Given the description of an element on the screen output the (x, y) to click on. 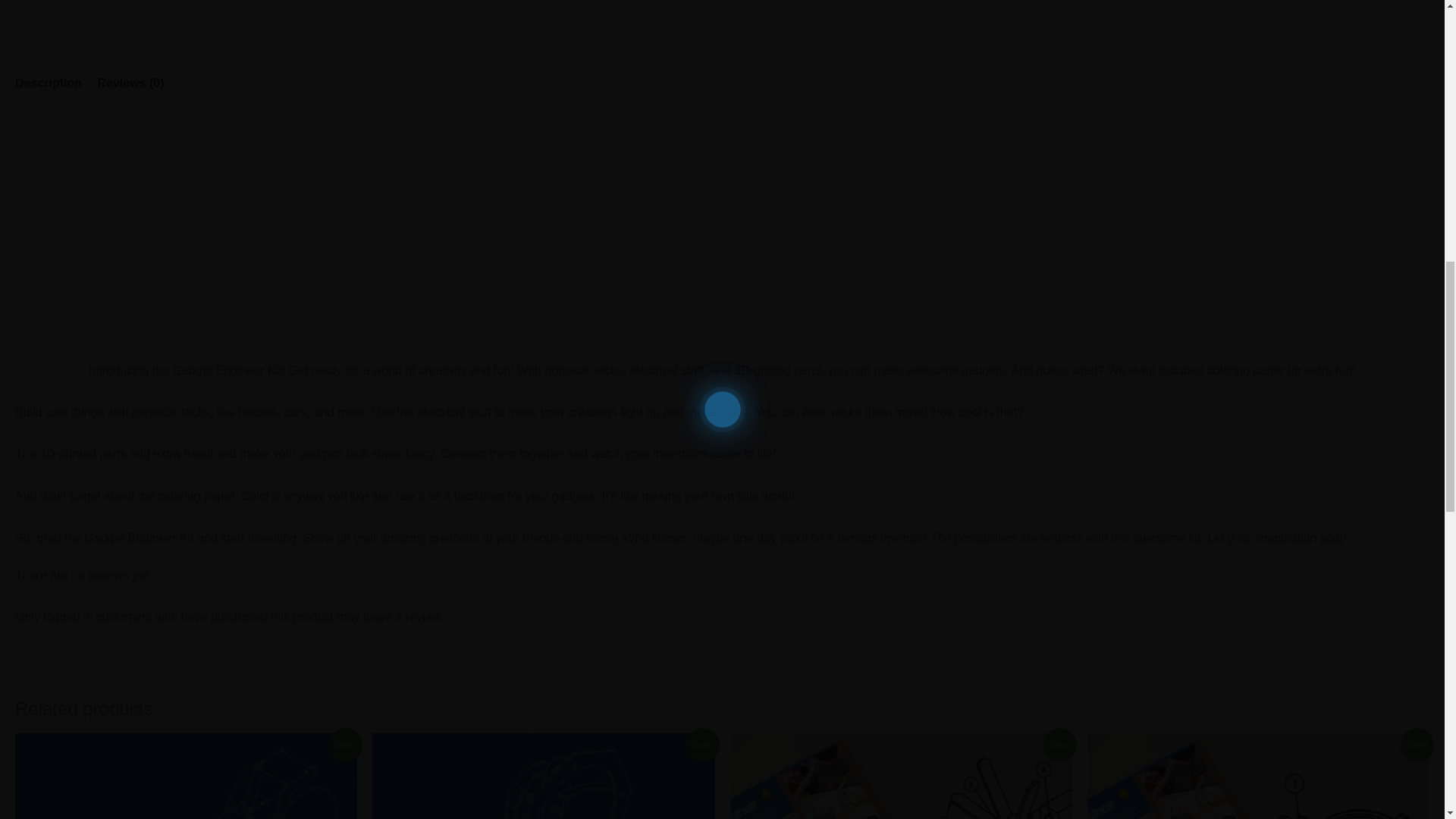
OUT OF STOCK (900, 776)
Description (47, 83)
OUT OF STOCK (543, 776)
YouTube video player (721, 232)
OUT OF STOCK (1258, 776)
